Given the description of an element on the screen output the (x, y) to click on. 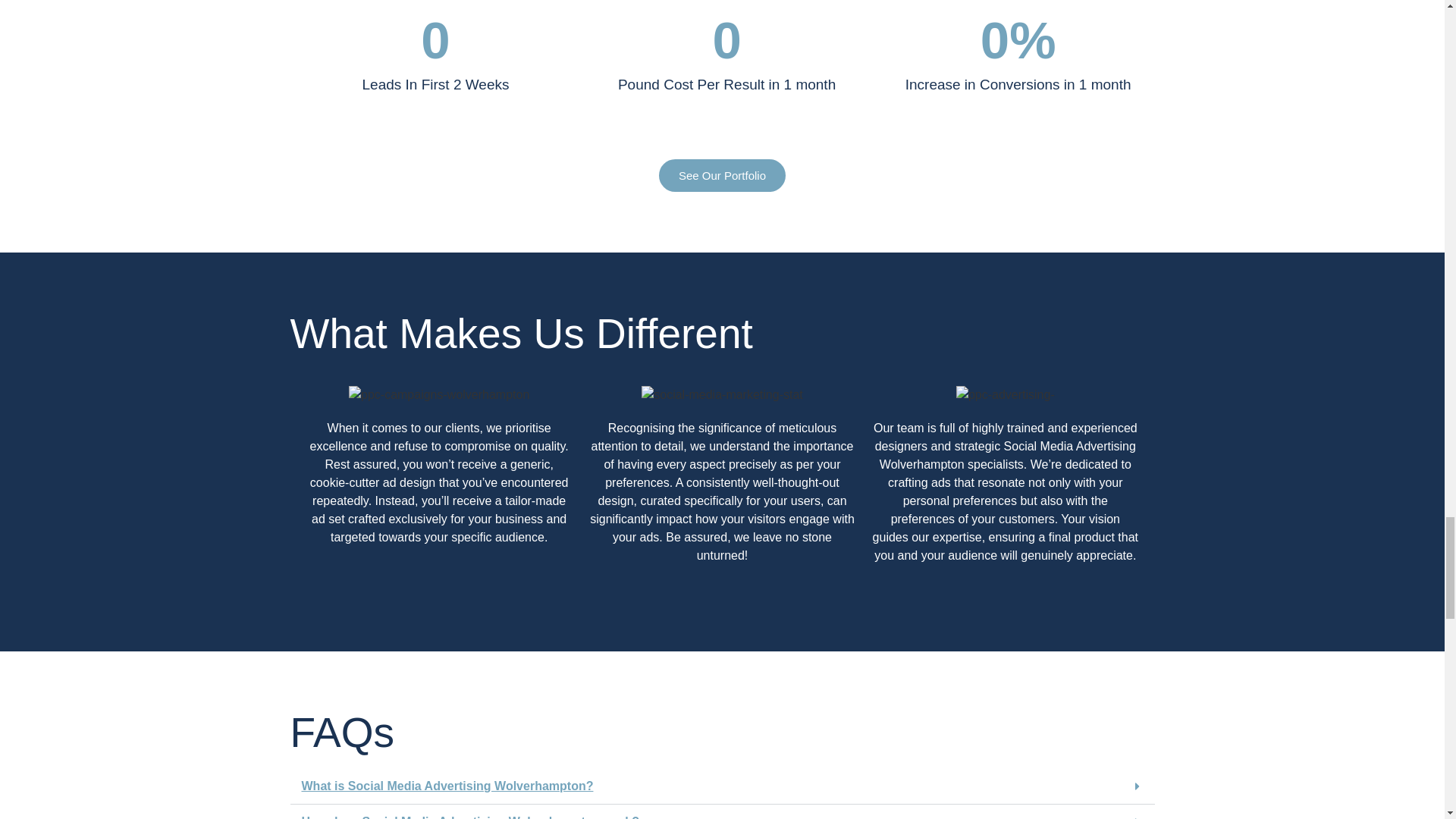
ppc-advertising- (1005, 394)
See Our Portfolio (722, 174)
How does Social Media Advertising Wolverhampton work? (470, 816)
social-media-marketing-stat (722, 394)
What is Social Media Advertising Wolverhampton? (447, 785)
ppc-campaigns-wolverhampton (439, 394)
